Given the description of an element on the screen output the (x, y) to click on. 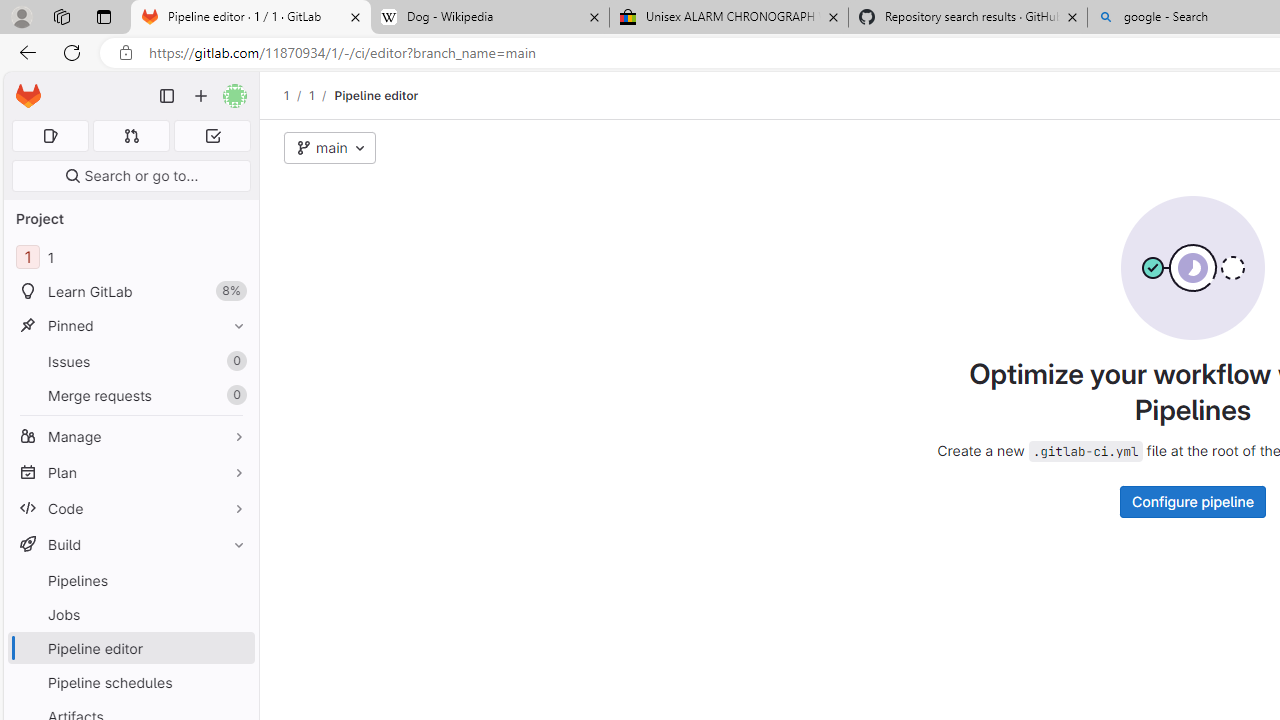
Build (130, 543)
Learn GitLab8% (130, 291)
1/ (321, 95)
main (330, 147)
Issues0 (130, 361)
Configure pipeline (1192, 501)
To-Do list 0 (212, 136)
